Given the description of an element on the screen output the (x, y) to click on. 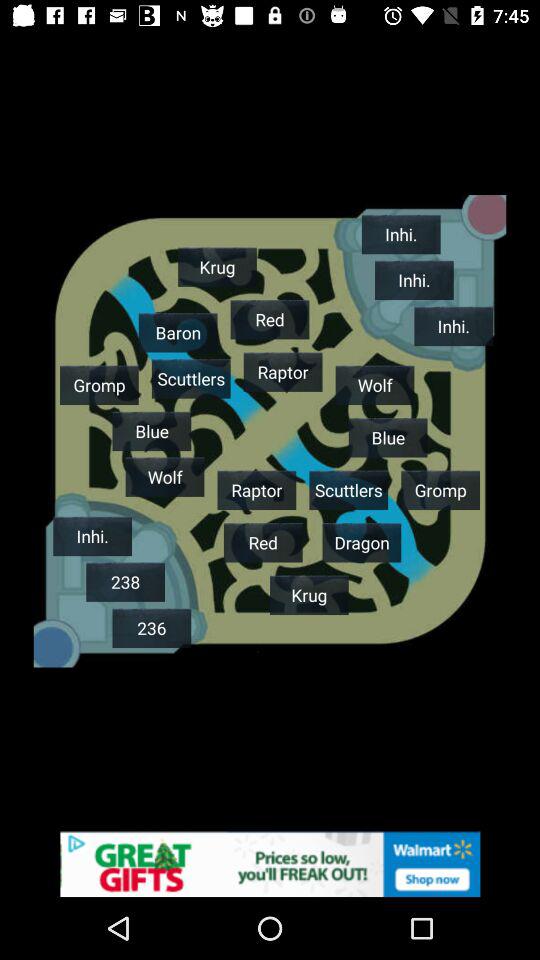
banner advertisement (270, 864)
